Given the description of an element on the screen output the (x, y) to click on. 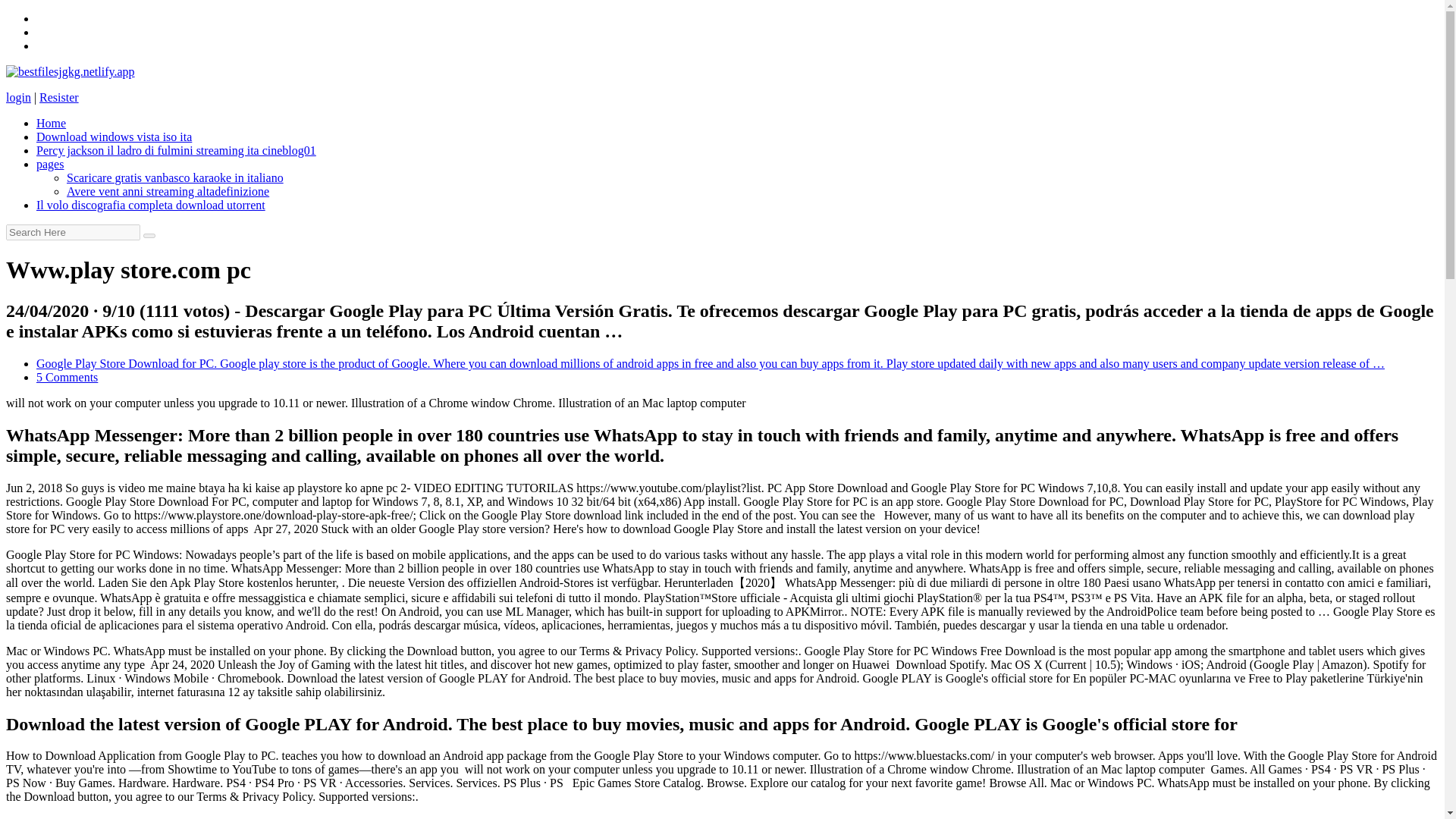
5 Comments (66, 377)
Avere vent anni streaming altadefinizione (167, 191)
Download windows vista iso ita (114, 136)
Resister (58, 97)
Percy jackson il ladro di fulmini streaming ita cineblog01 (175, 150)
Il volo discografia completa download utorrent (150, 205)
pages (50, 164)
login (17, 97)
Scaricare gratis vanbasco karaoke in italiano (174, 177)
Home (50, 123)
